Given the description of an element on the screen output the (x, y) to click on. 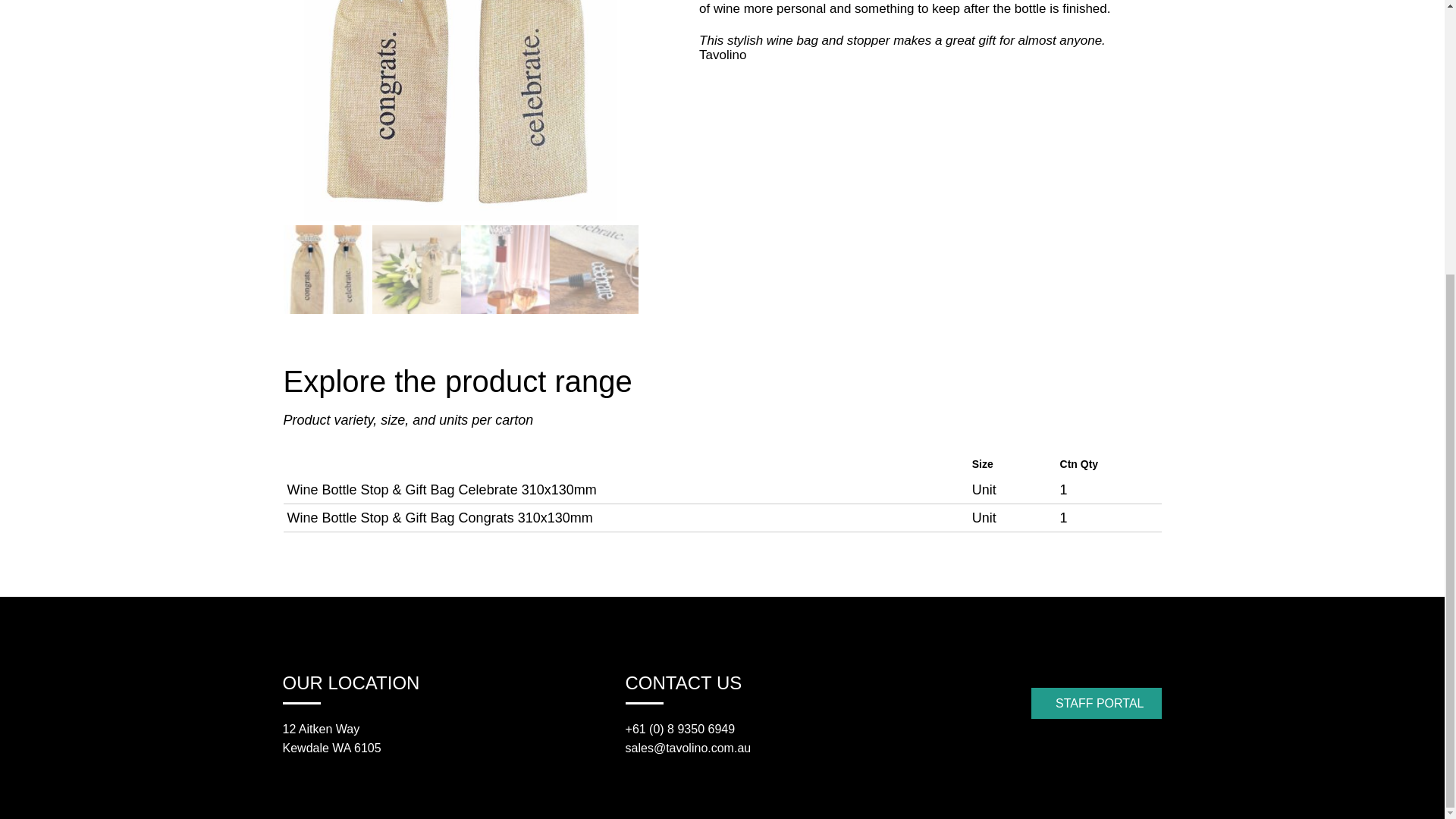
wine-bags (460, 110)
12 Aitken Way (320, 728)
Kewdale WA 6105 (331, 748)
STAFF PORTAL (1095, 703)
